Given the description of an element on the screen output the (x, y) to click on. 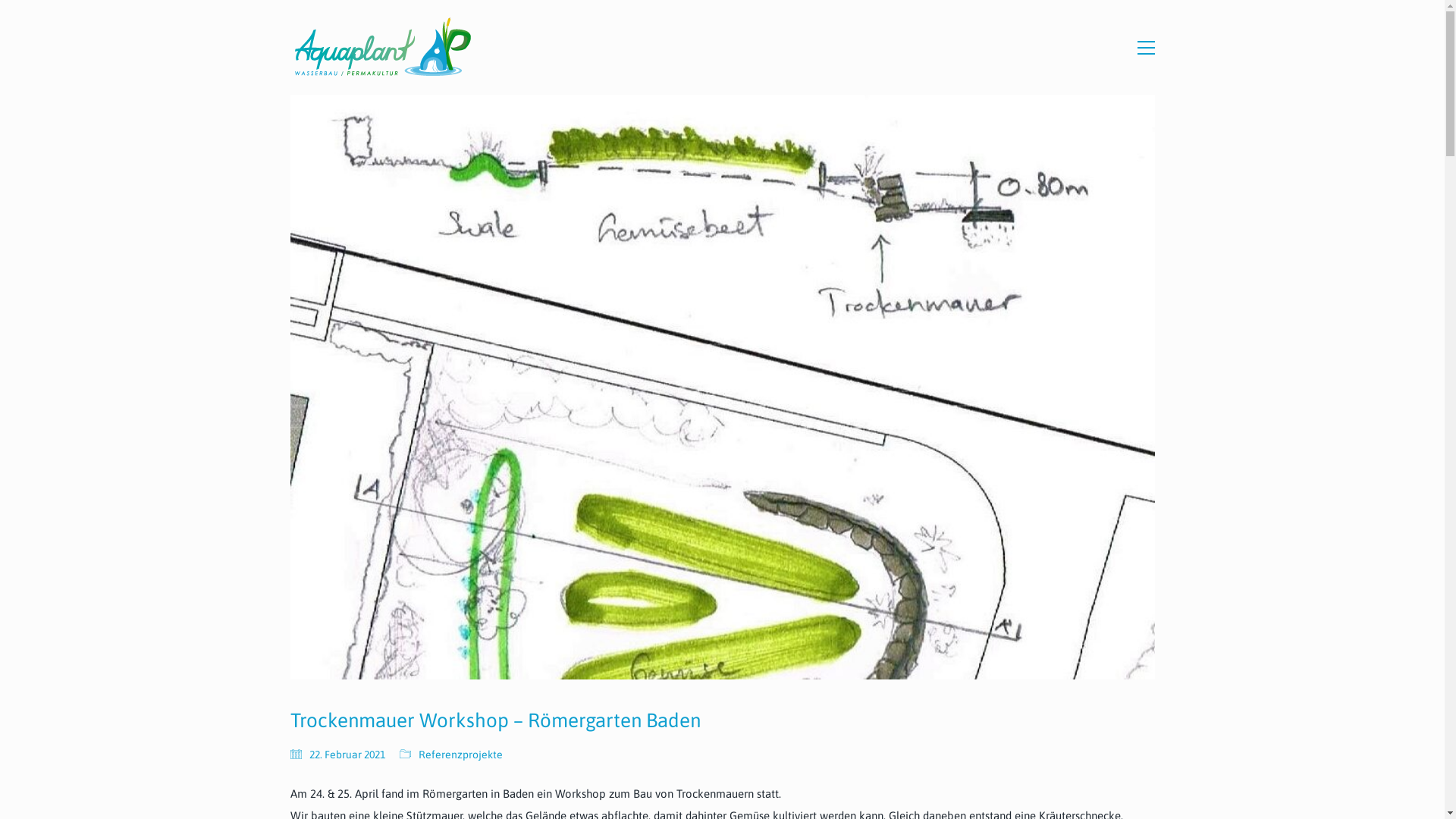
Referenzprojekte Element type: text (460, 754)
